Given the description of an element on the screen output the (x, y) to click on. 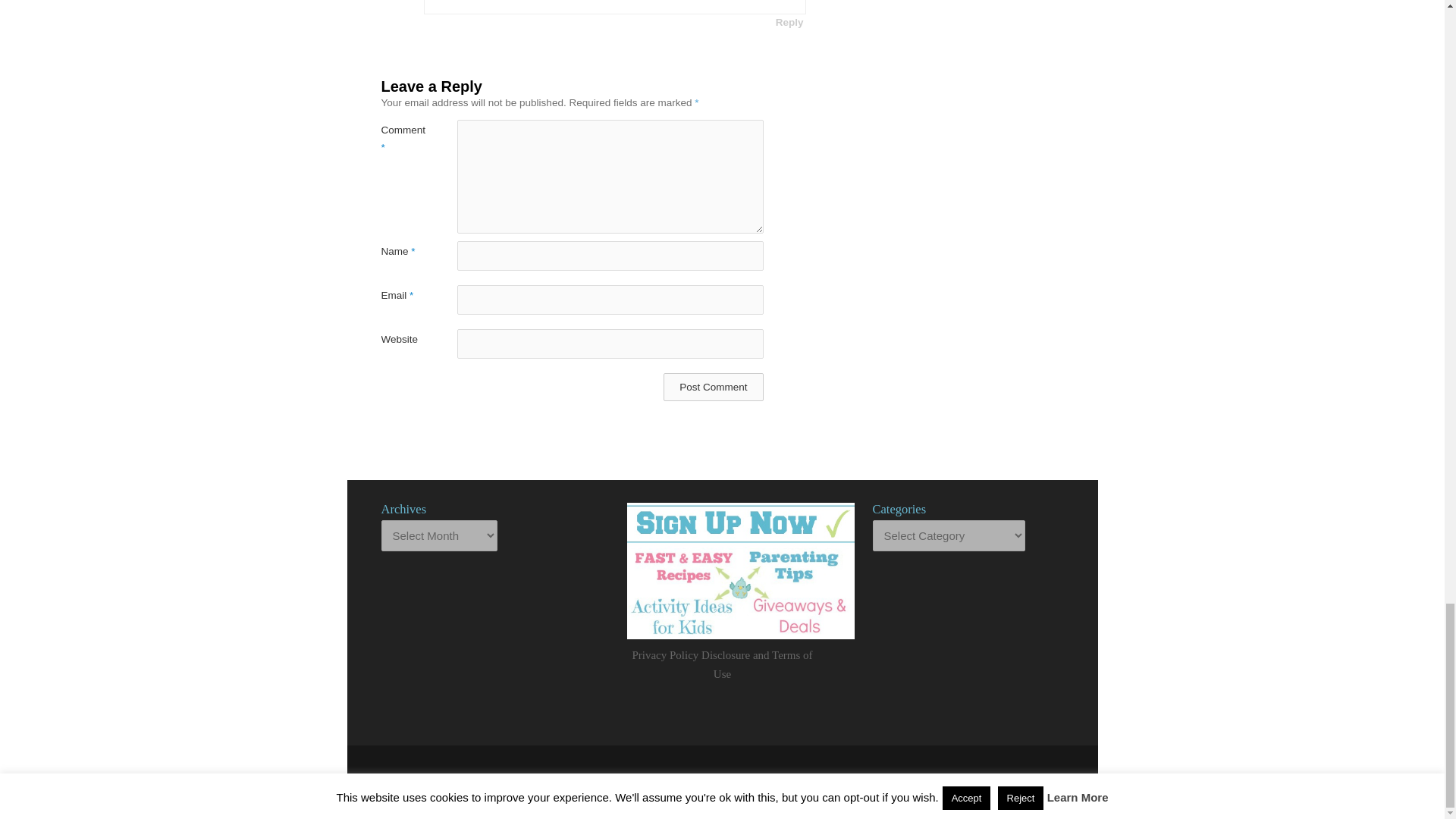
Post Comment (712, 387)
Semantic Personal Publishing Platform (824, 778)
Mantra Theme by Cryout Creations (770, 778)
Multi-Testing Mommy (640, 778)
